Given the description of an element on the screen output the (x, y) to click on. 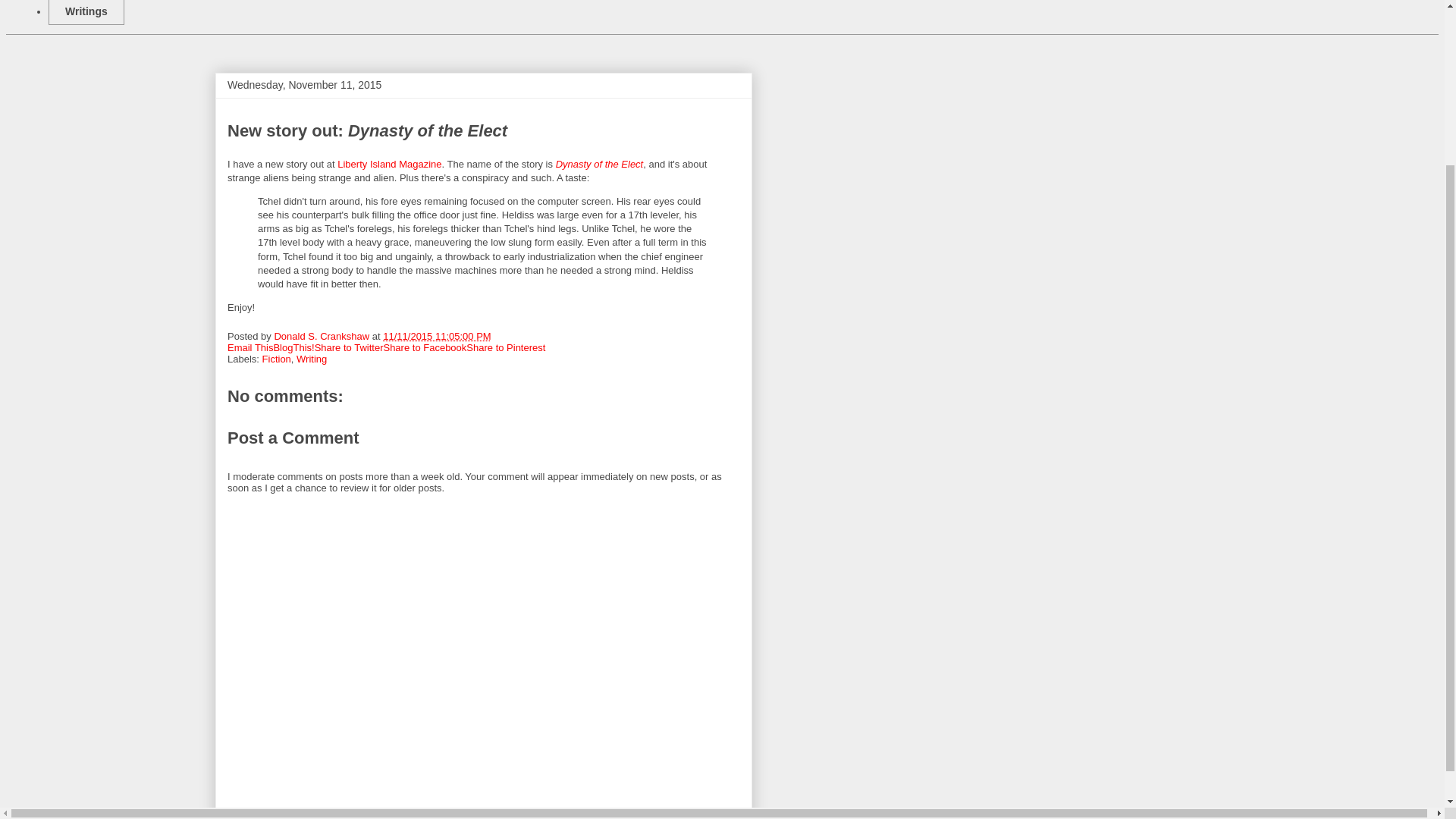
Donald S. Crankshaw (322, 336)
Email Post (499, 336)
Share to Pinterest (504, 347)
Share to Facebook (423, 347)
permanent link (436, 336)
Share to Twitter (349, 347)
BlogThis! (293, 347)
Writings (85, 12)
Liberty Island Magazine (389, 163)
author profile (322, 336)
Share to Twitter (349, 347)
Dynasty of the Elect (599, 163)
BlogThis! (293, 347)
Fiction (276, 358)
Email This (250, 347)
